Given the description of an element on the screen output the (x, y) to click on. 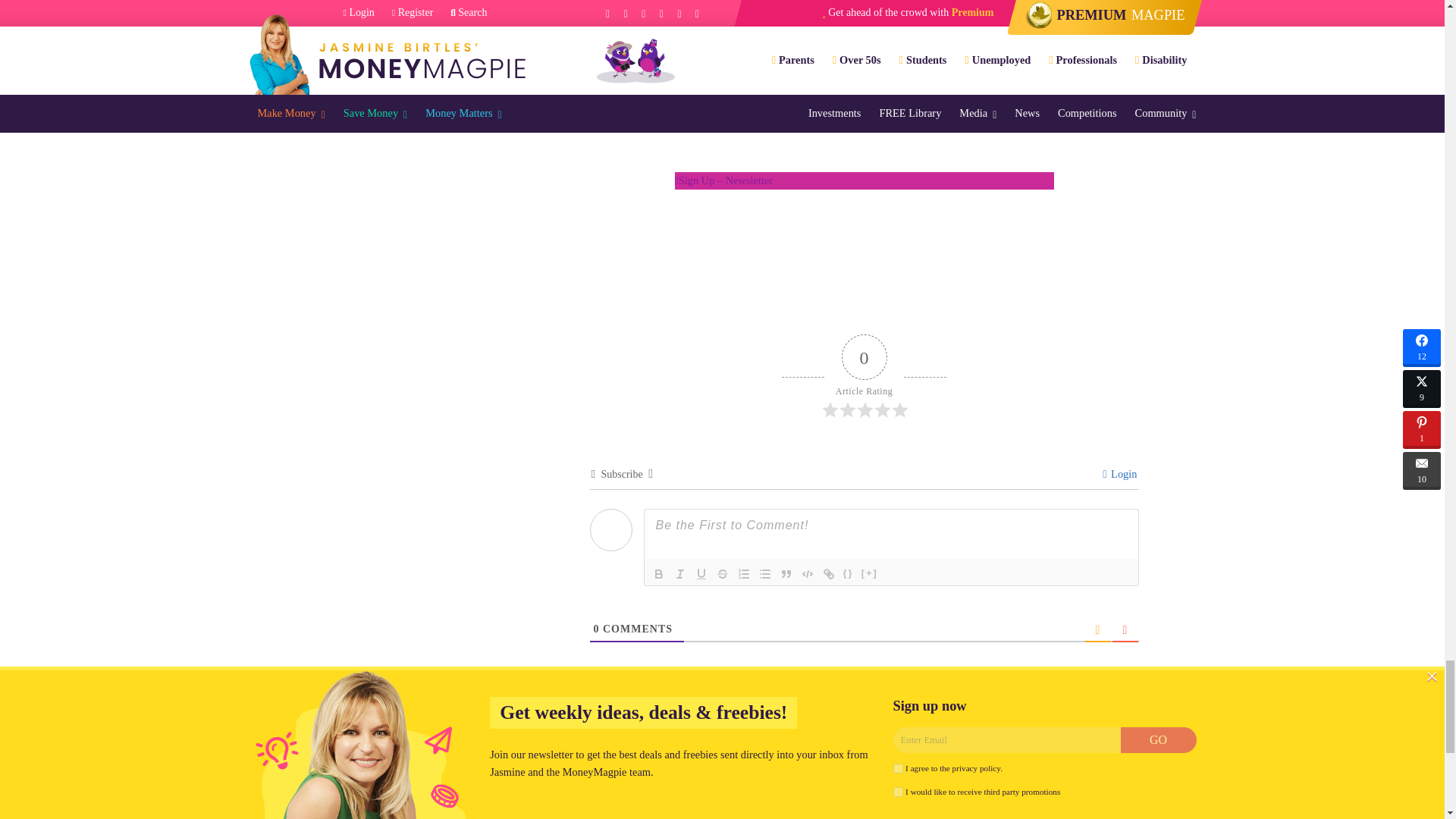
Strike (721, 574)
Ordered List (743, 574)
Blockquote (785, 574)
Underline (700, 574)
Code Block (806, 574)
Unordered List (764, 574)
Italic (679, 574)
Bold (657, 574)
